Given the description of an element on the screen output the (x, y) to click on. 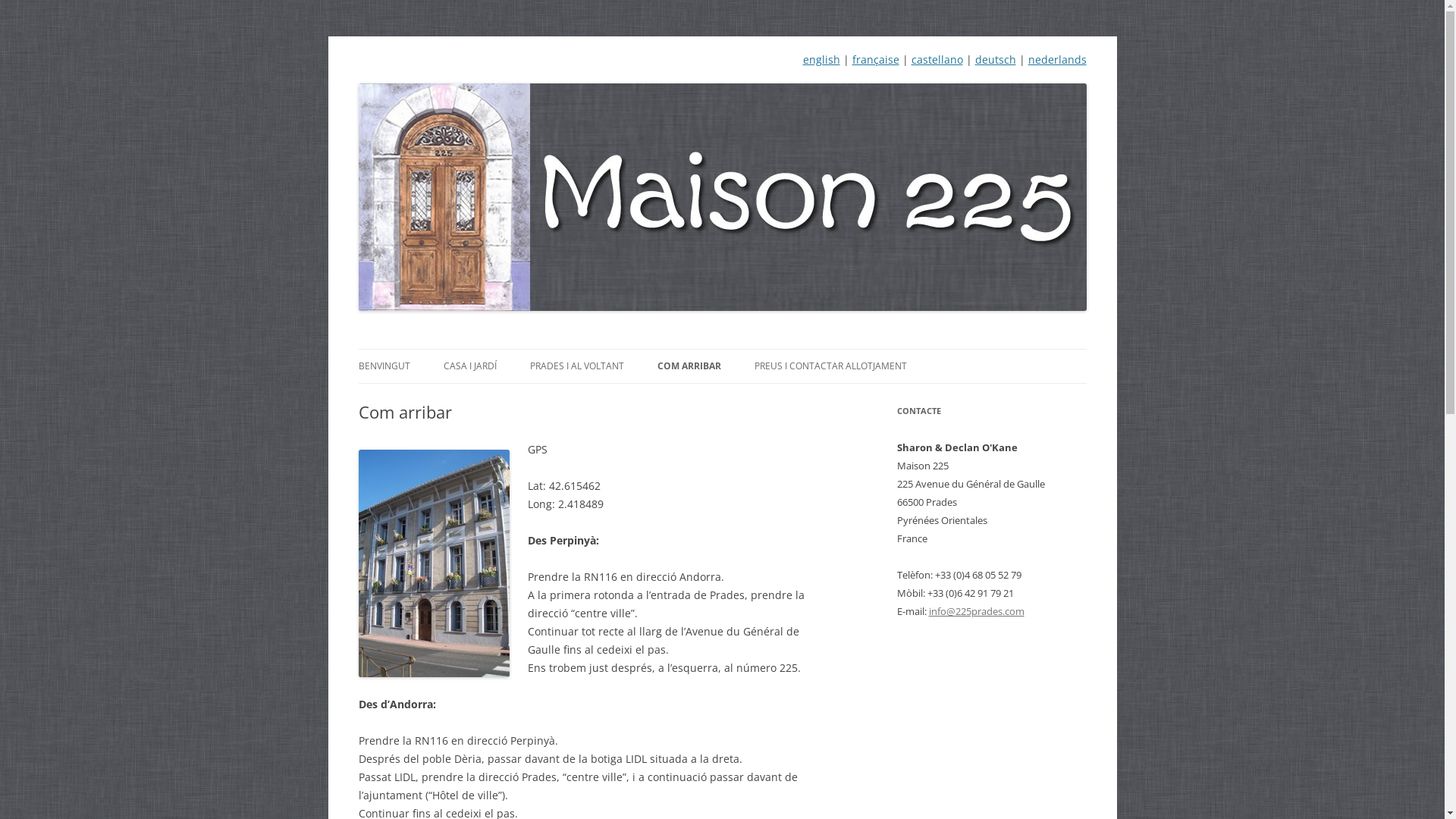
Maison 225 Element type: text (413, 83)
info@225prades.com Element type: text (975, 611)
deutsch Element type: text (995, 59)
PRADES I AL VOLTANT Element type: text (576, 365)
Skip to content Element type: text (902, 406)
COM ARRIBAR Element type: text (688, 365)
BENVINGUT Element type: text (383, 365)
PREUS I CONTACTAR ALLOTJAMENT Element type: text (829, 365)
Skip to content Element type: text (759, 353)
english Element type: text (820, 59)
castellano Element type: text (937, 59)
nederlands Element type: text (1057, 59)
